Given the description of an element on the screen output the (x, y) to click on. 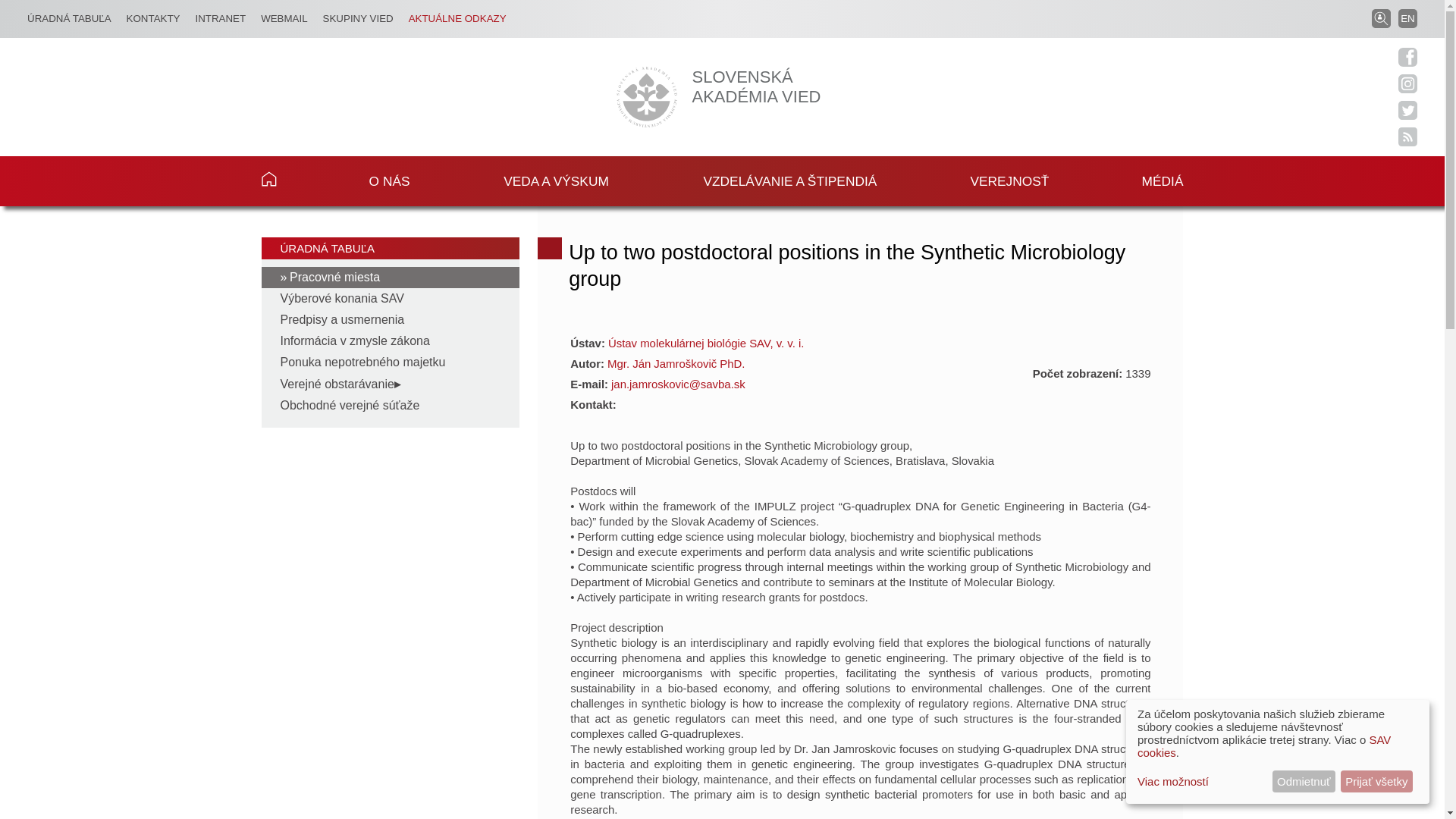
SKUPINY VIED (358, 18)
EN (1407, 18)
Change language (1407, 18)
INTRANET (220, 18)
KONTAKTY (153, 18)
WEBMAIL (283, 18)
